Given the description of an element on the screen output the (x, y) to click on. 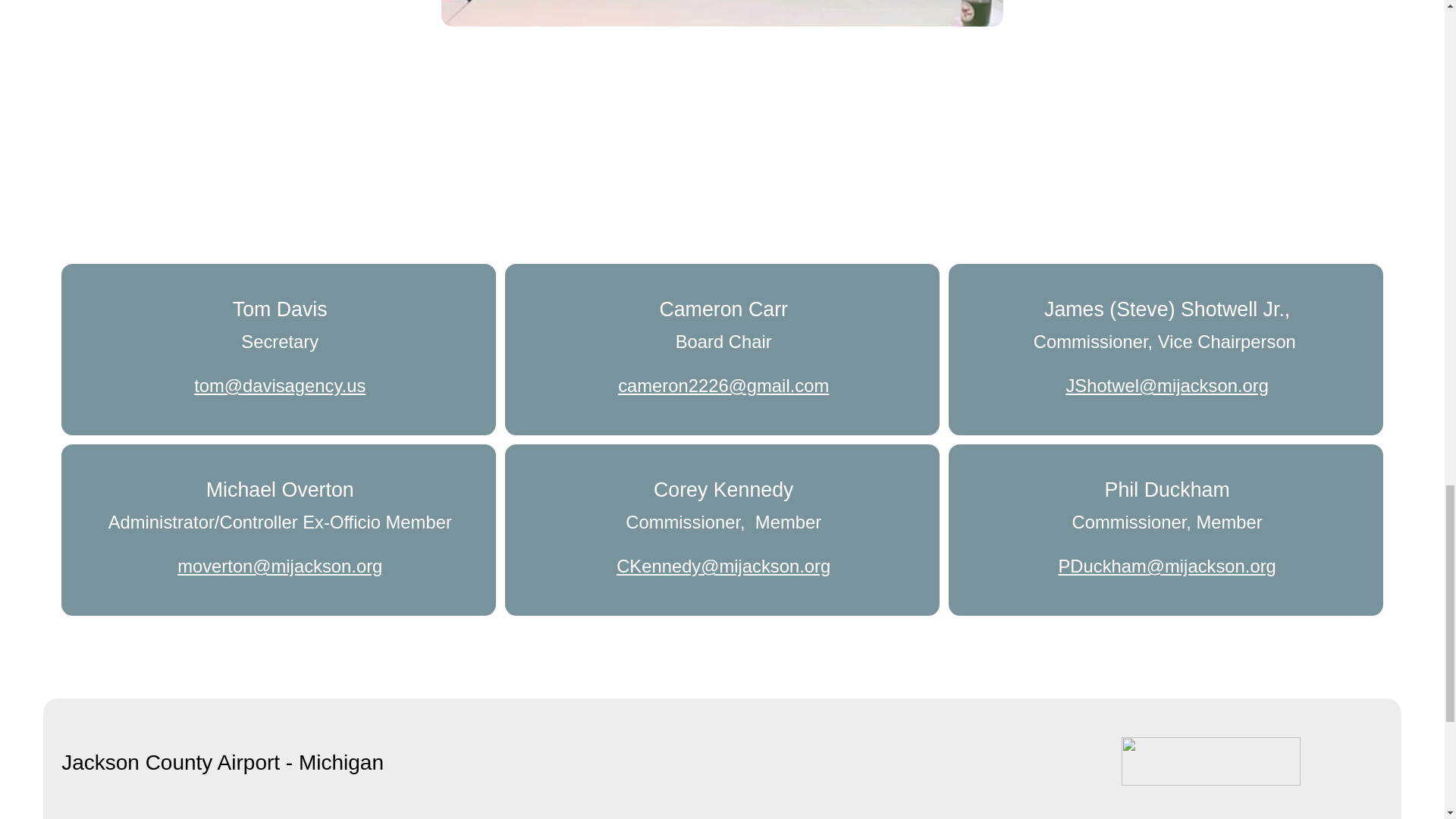
Phil Duckham (1167, 489)
